Given the description of an element on the screen output the (x, y) to click on. 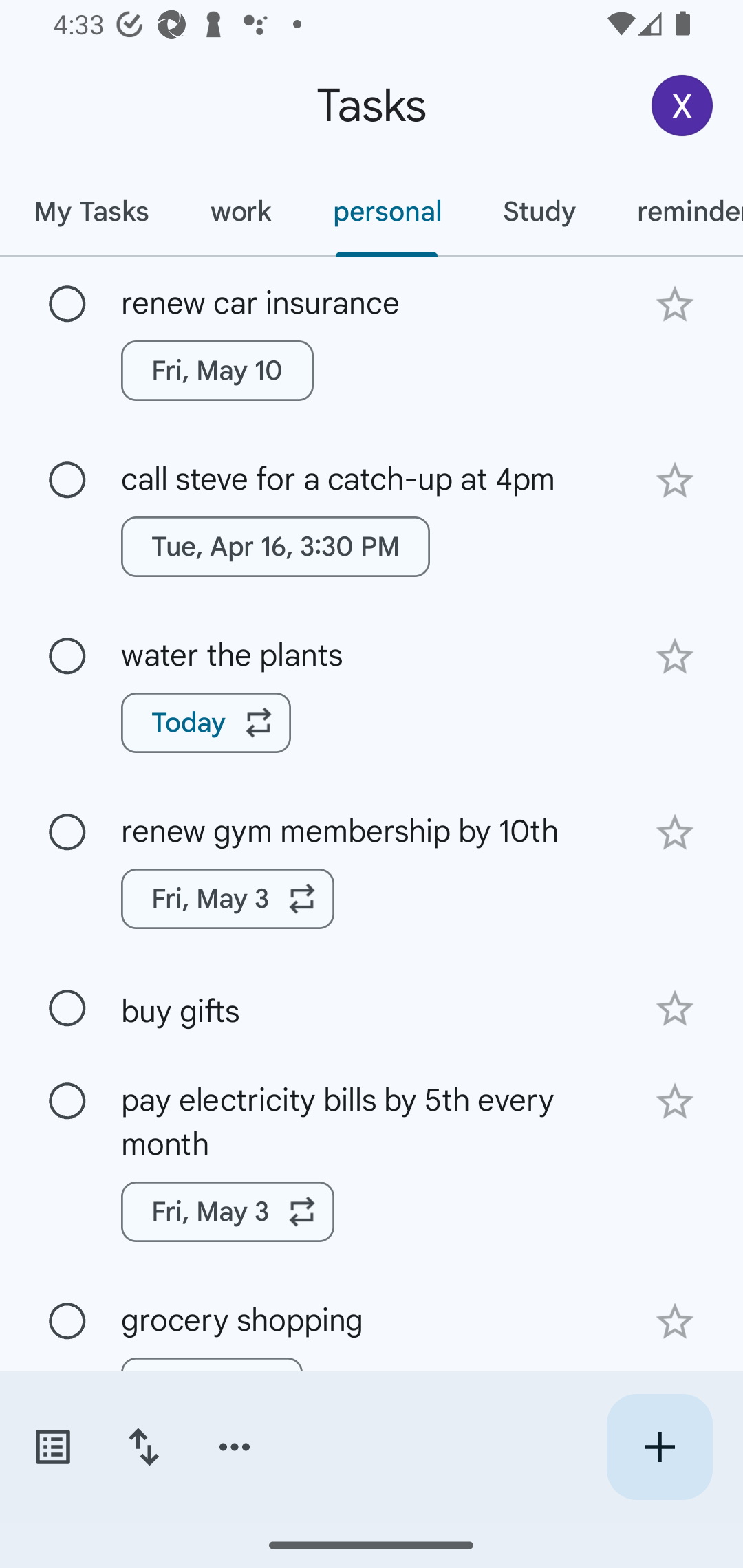
My Tasks (90, 211)
work (240, 211)
Study (538, 211)
reminders (674, 211)
Add star (674, 303)
Mark as complete (67, 304)
Fri, May 10 (217, 369)
Add star (674, 480)
Mark as complete (67, 480)
Tue, Apr 16, 3:30 PM (275, 546)
Add star (674, 656)
Mark as complete (67, 655)
Today (206, 722)
Add star (674, 832)
Mark as complete (67, 833)
Fri, May 3 (227, 897)
buy gifts buy gifts Add star Mark as complete (371, 1007)
Add star (674, 1007)
Mark as complete (67, 1008)
Add star (674, 1101)
Mark as complete (67, 1101)
Fri, May 3 (227, 1211)
Add star (674, 1321)
Mark as complete (67, 1321)
Switch task lists (52, 1447)
Create new task (659, 1446)
Change sort order (143, 1446)
More options (234, 1446)
